Given the description of an element on the screen output the (x, y) to click on. 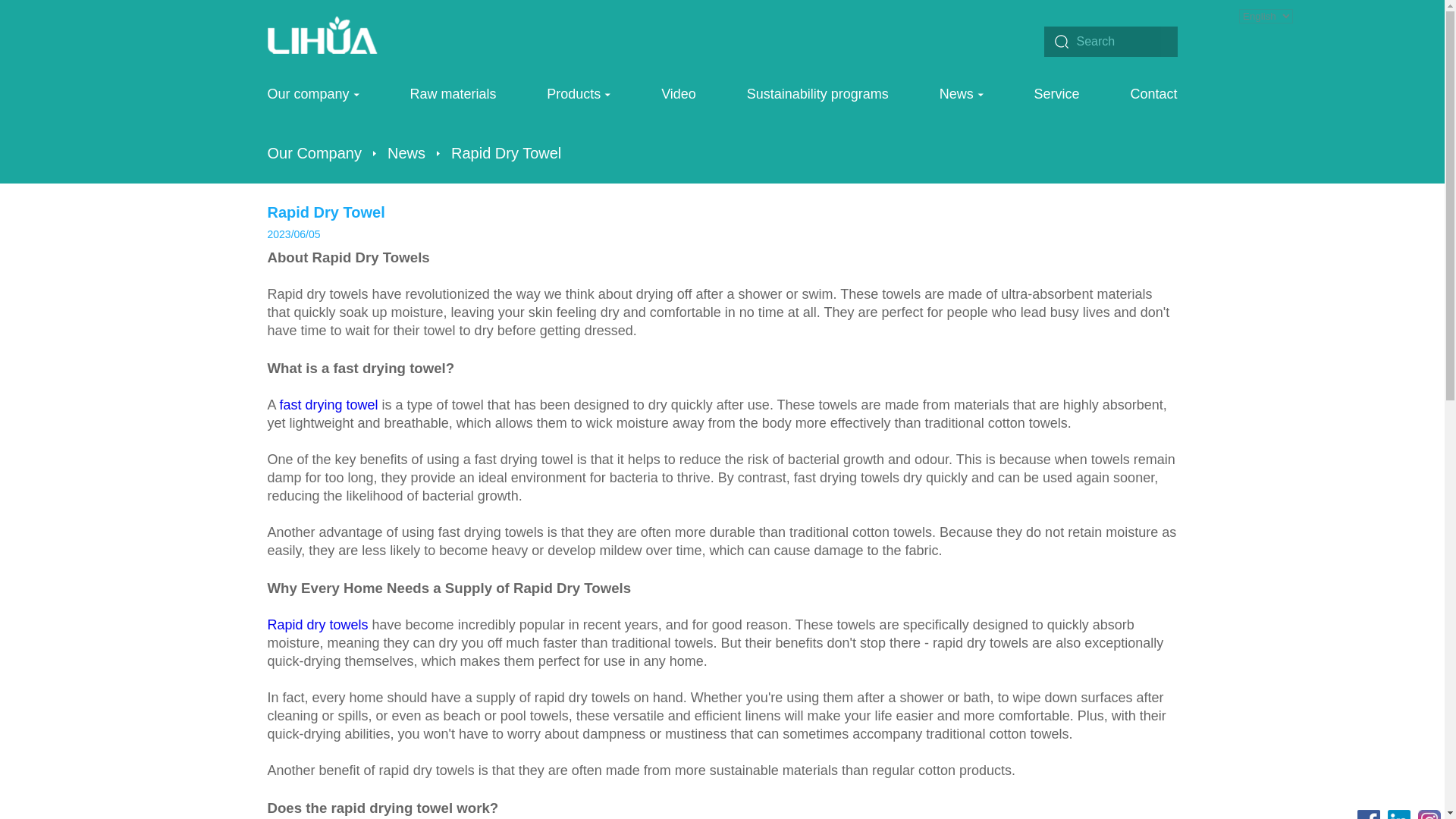
News (406, 153)
Service (1056, 104)
Rapid dry towels (317, 624)
Raw materials (452, 104)
Products (578, 104)
Our Company (313, 153)
News (961, 104)
Rapid Dry Towel (505, 153)
Our company (312, 104)
fast drying towel (328, 404)
